Given the description of an element on the screen output the (x, y) to click on. 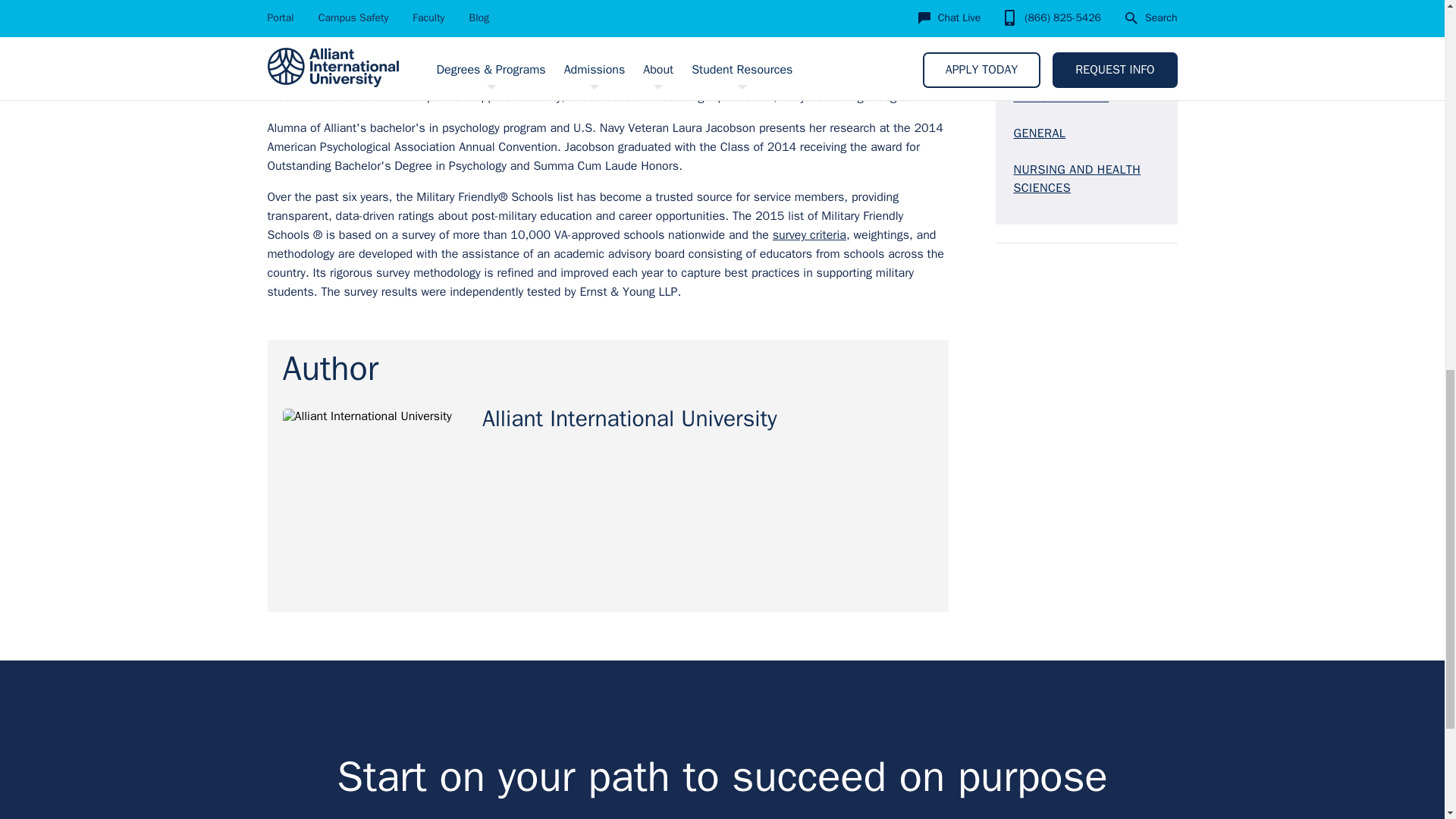
About Military Friendly Schools; Victory Media (809, 234)
